Given the description of an element on the screen output the (x, y) to click on. 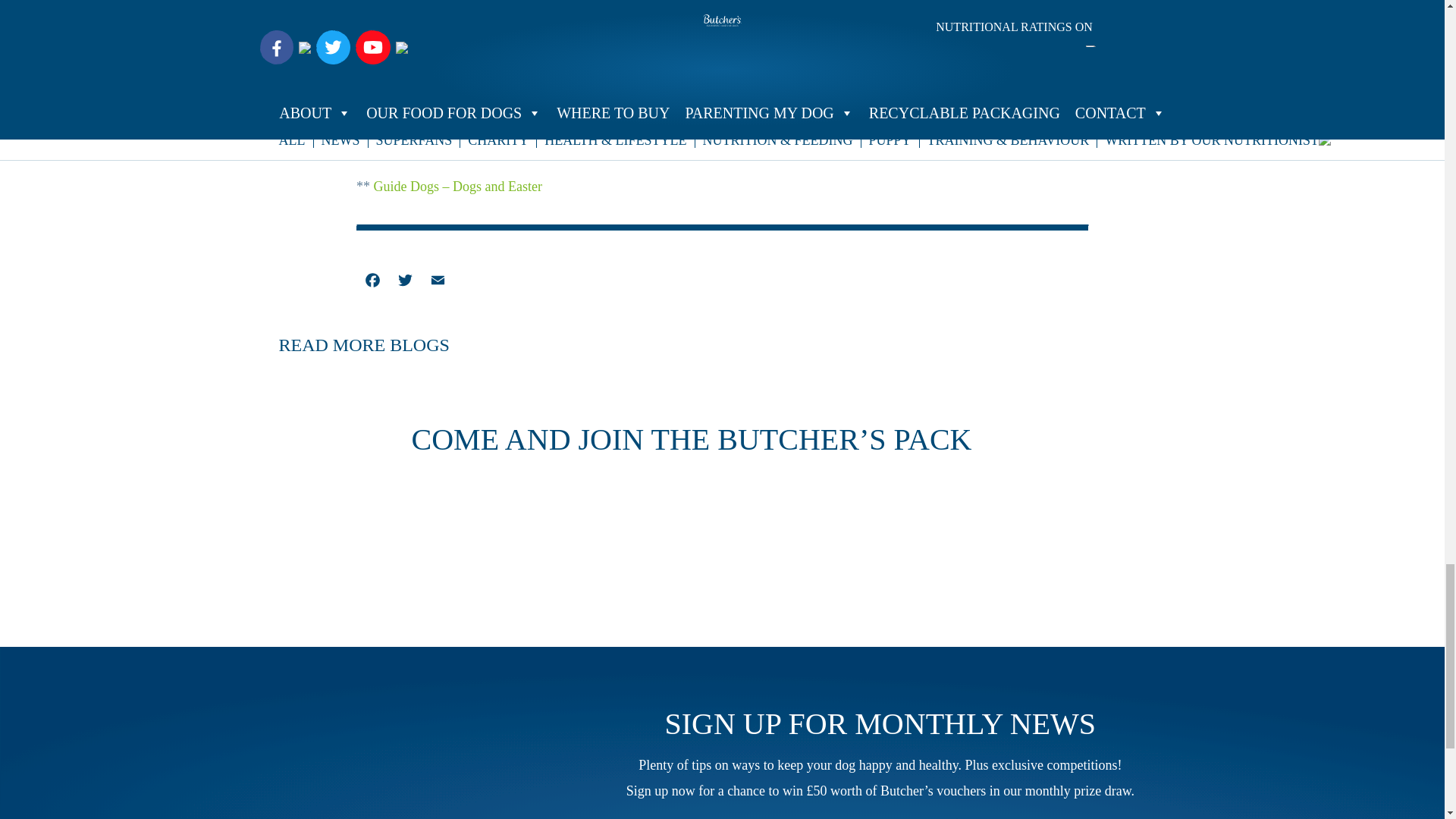
Facebook (372, 281)
Email (438, 281)
Twitter (405, 281)
Pinterest (470, 281)
